Given the description of an element on the screen output the (x, y) to click on. 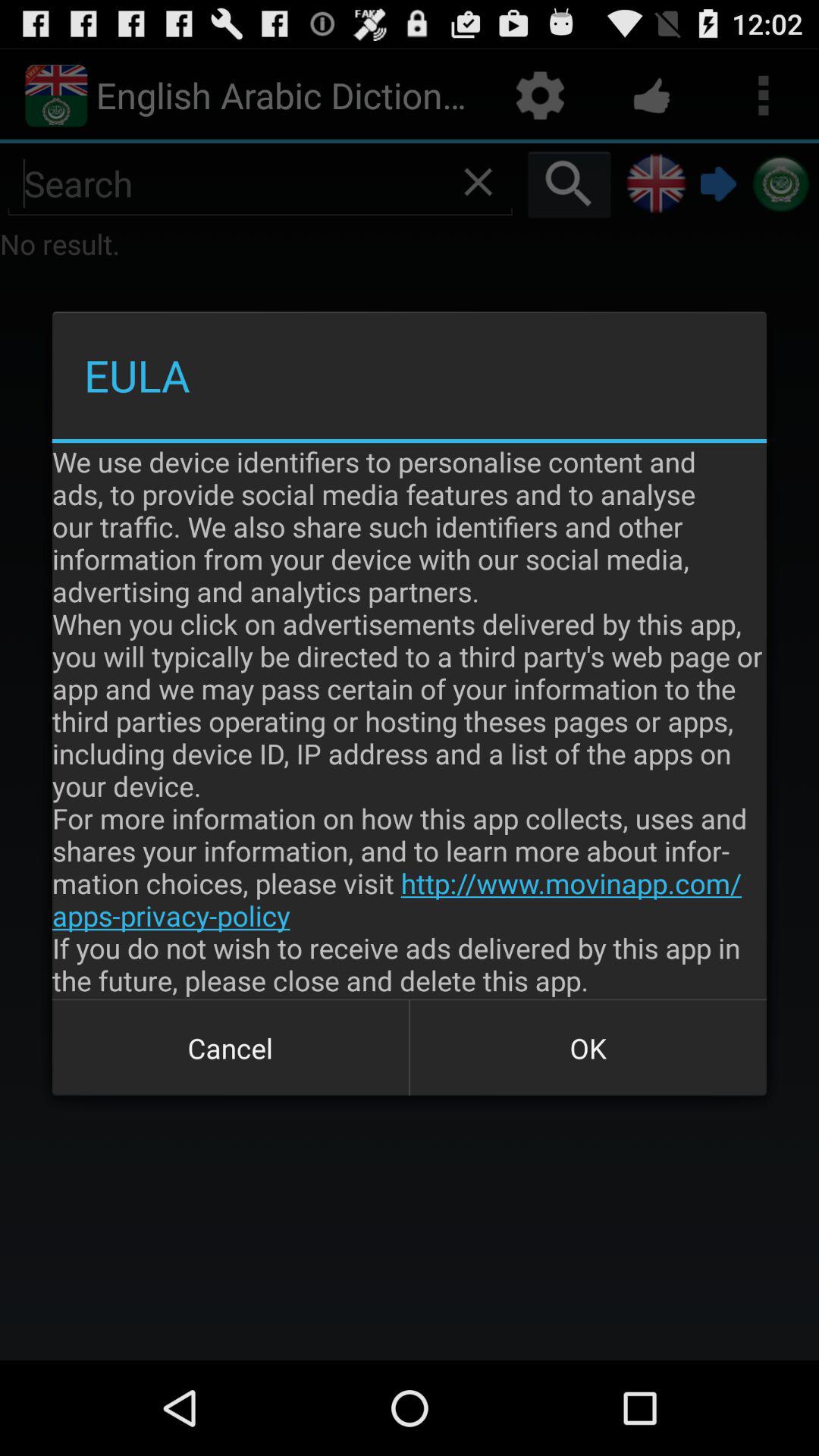
jump to the we use device app (409, 721)
